Given the description of an element on the screen output the (x, y) to click on. 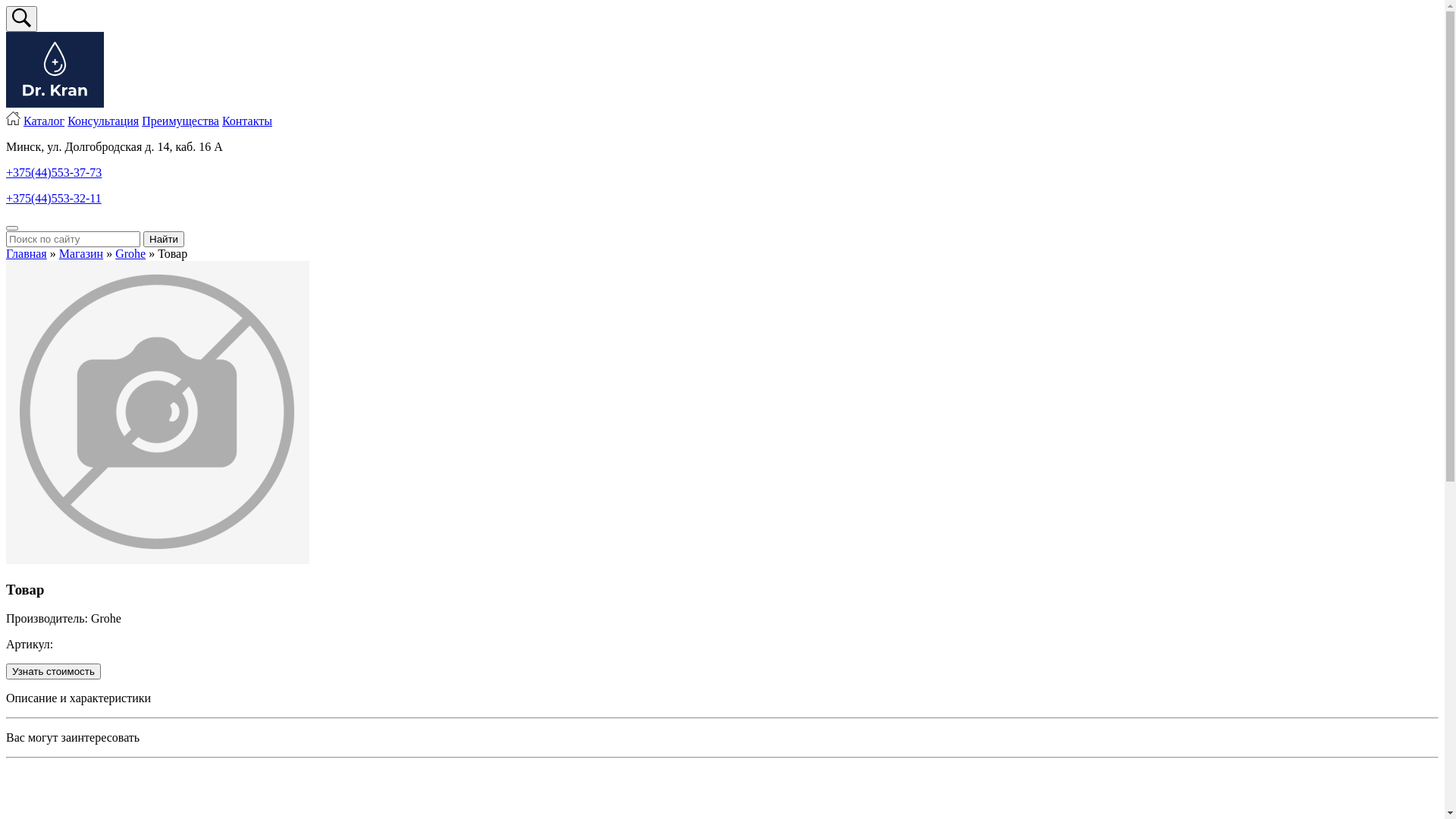
+375(44)553-32-11 Element type: text (53, 197)
Grohe Element type: text (130, 253)
+375(44)553-37-73 Element type: text (53, 172)
